Given the description of an element on the screen output the (x, y) to click on. 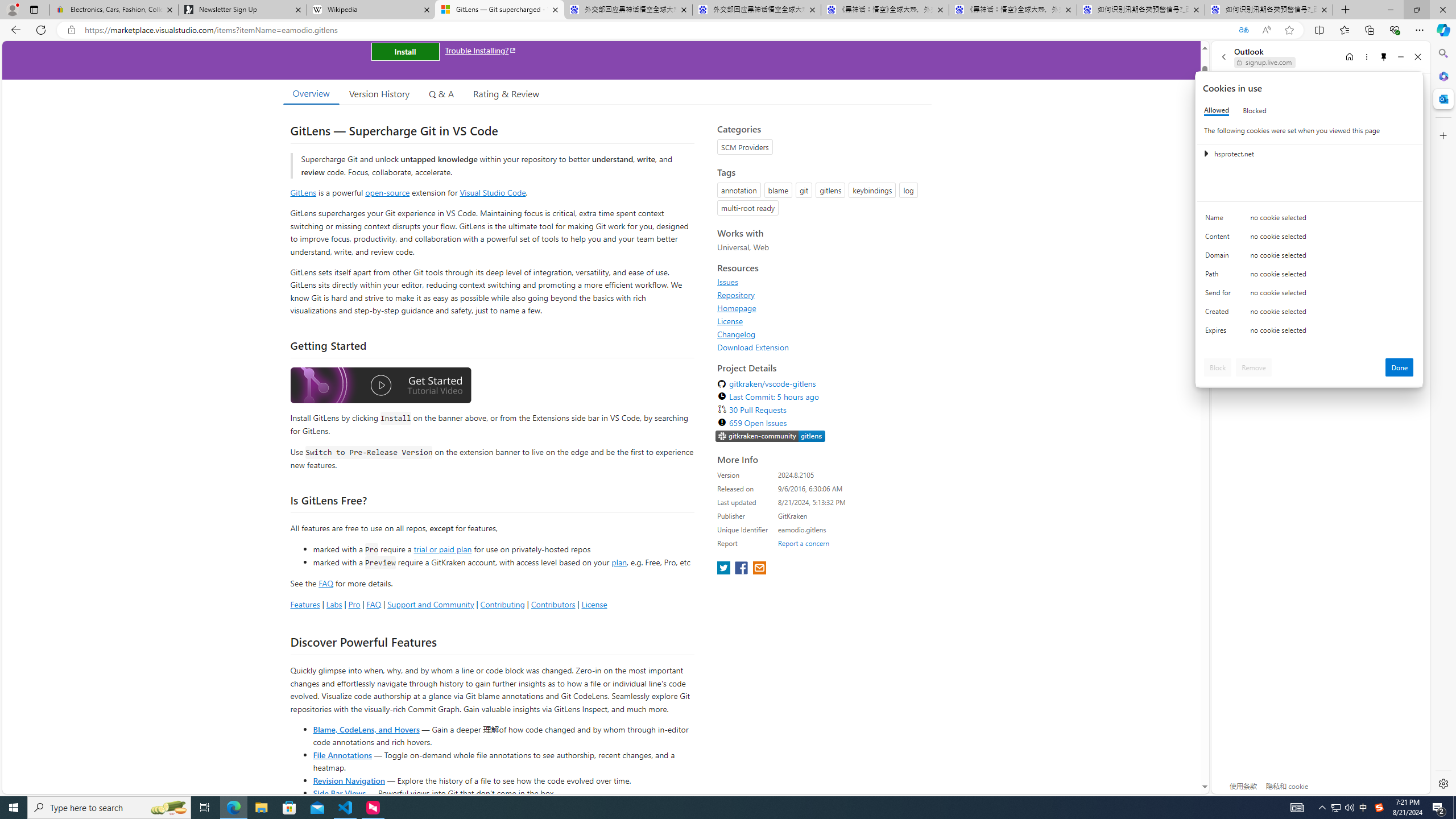
Blocked (1255, 110)
Class: c0153 c0157 c0154 (1309, 220)
Block (1217, 367)
Done (1399, 367)
Send for (1219, 295)
no cookie selected (1331, 332)
Class: c0153 c0157 (1309, 332)
Domain (1219, 257)
Name (1219, 220)
Path (1219, 276)
Expires (1219, 332)
Content (1219, 239)
Remove (1253, 367)
Created (1219, 313)
Allowed (1216, 110)
